Given the description of an element on the screen output the (x, y) to click on. 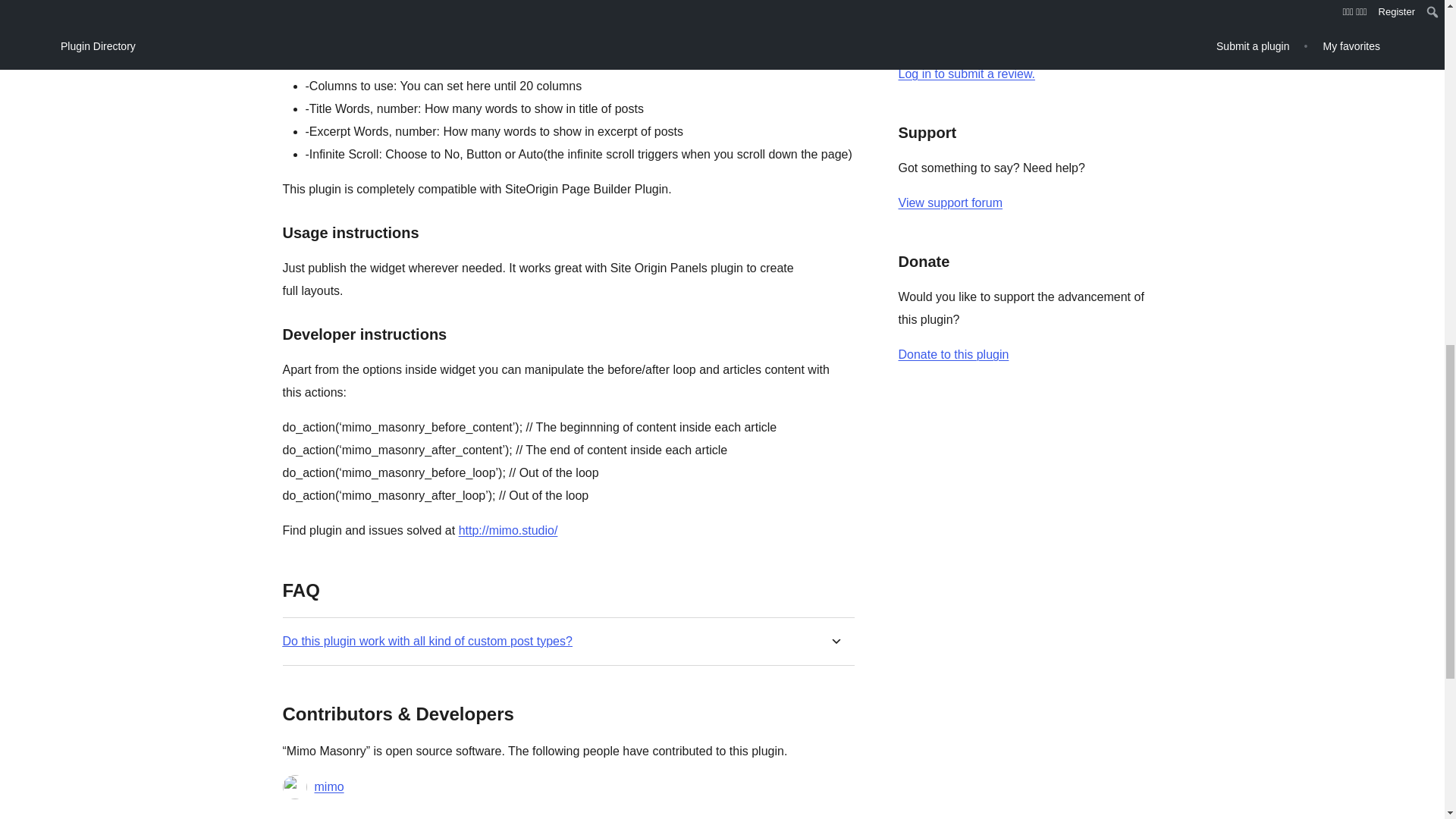
Do this plugin work with all kind of custom post types? (427, 640)
Log in to WordPress.org (966, 73)
mimo (328, 786)
Mimo Studio - web design and development (507, 530)
